Given the description of an element on the screen output the (x, y) to click on. 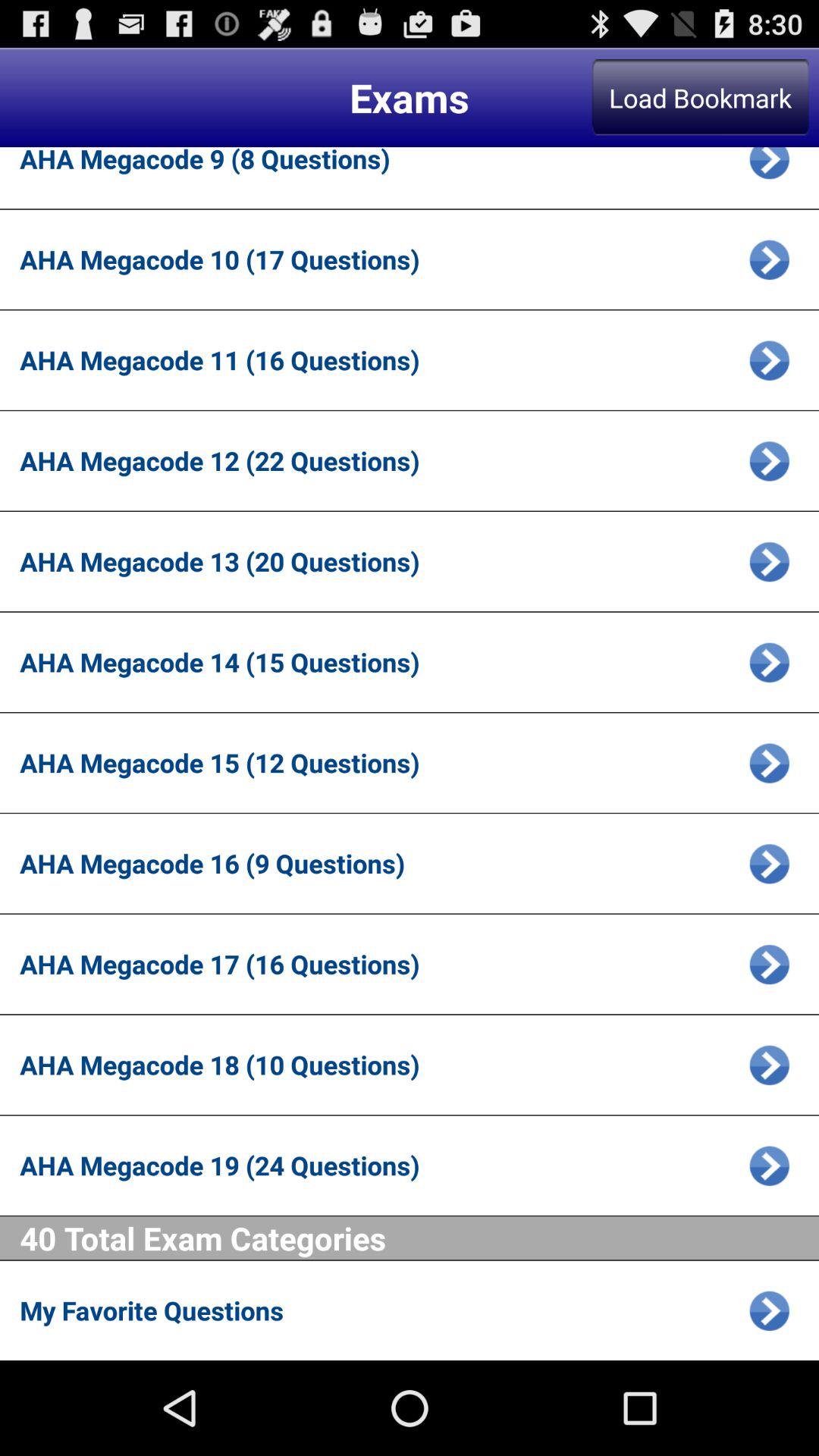
open that link (769, 460)
